Given the description of an element on the screen output the (x, y) to click on. 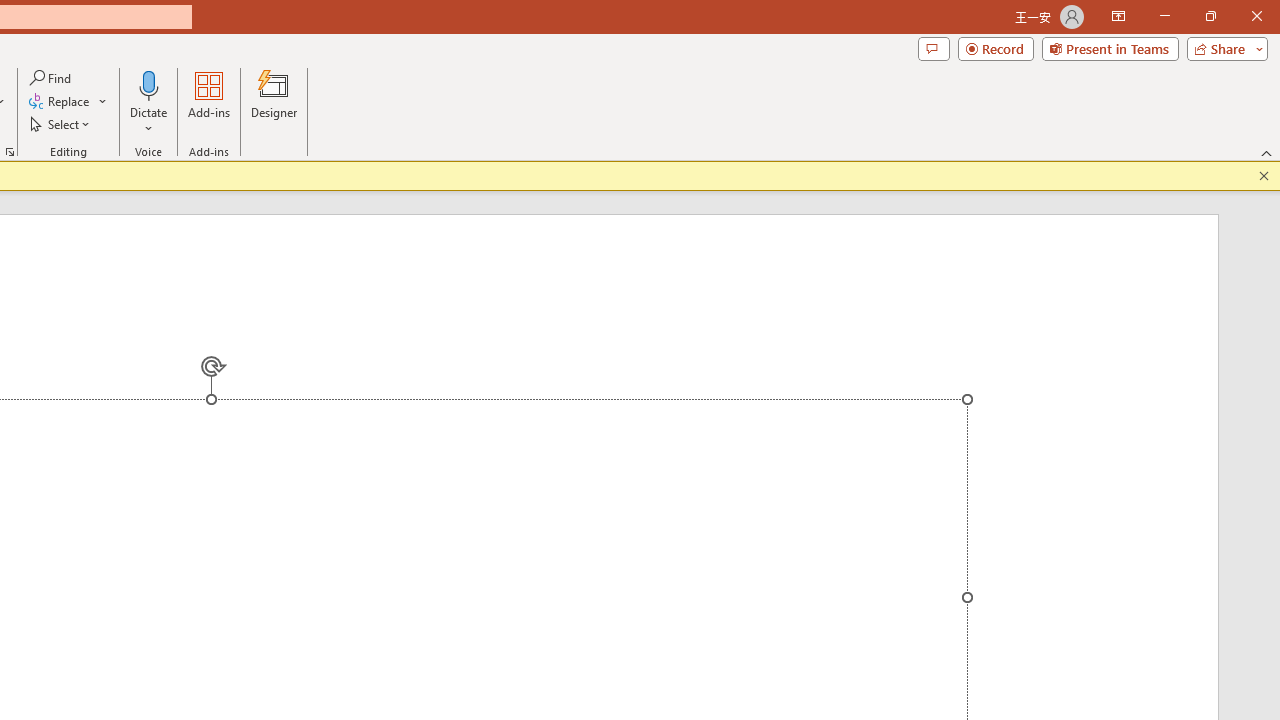
Dictate (149, 102)
Select (61, 124)
Ribbon Display Options (1118, 16)
Share (1223, 48)
Minimize (1164, 16)
Present in Teams (1109, 48)
Designer (274, 102)
Close (1256, 16)
Format Object... (9, 151)
More Options (149, 121)
Replace... (60, 101)
Restore Down (1210, 16)
Replace... (68, 101)
